Given the description of an element on the screen output the (x, y) to click on. 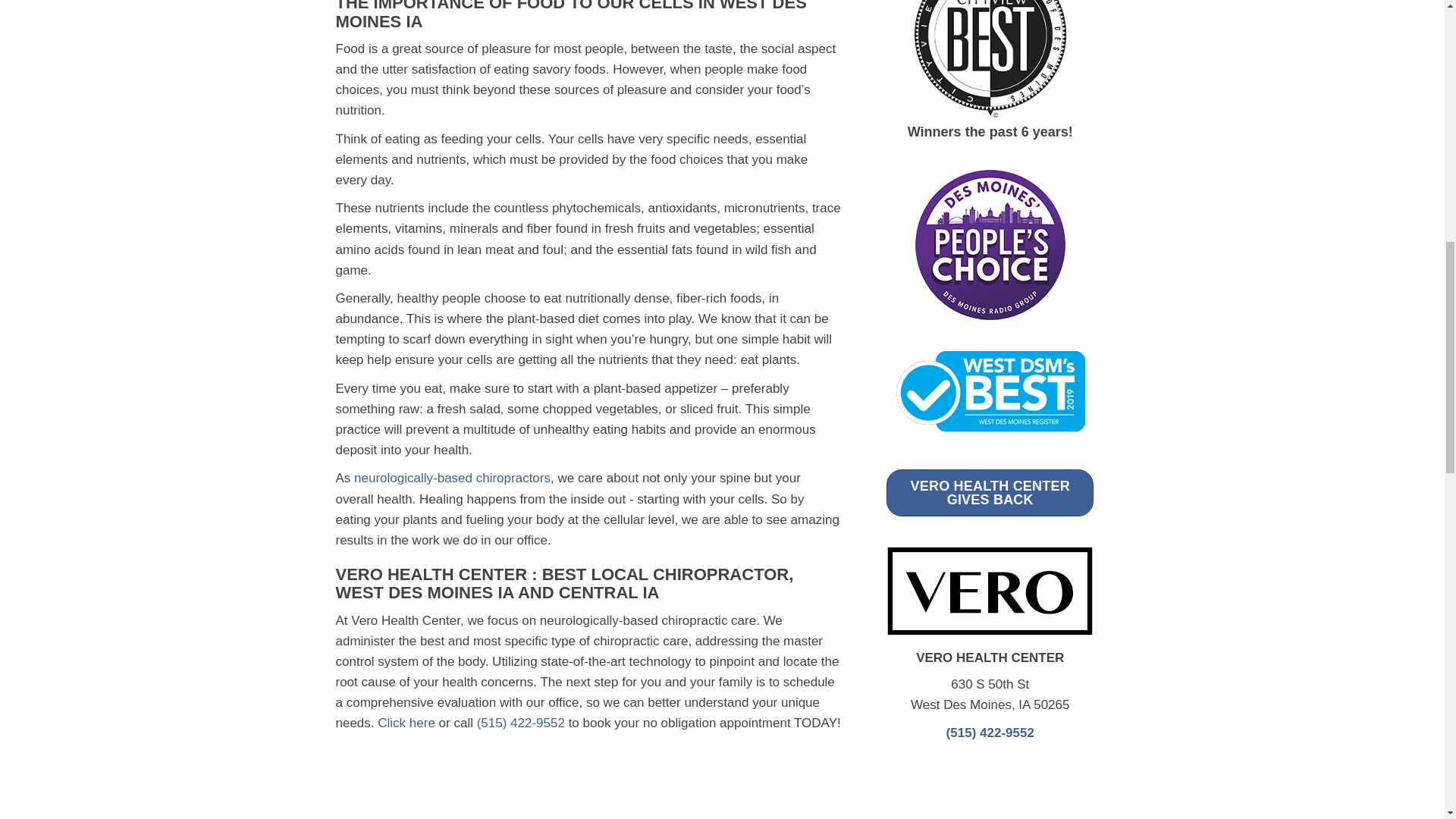
West DSMs Best 2019 (989, 391)
Chronic Pain West Des Moines IA Vero Health Center (989, 591)
CV Best Logo (989, 58)
Des Moines' People's Choice Award (989, 244)
